Given the description of an element on the screen output the (x, y) to click on. 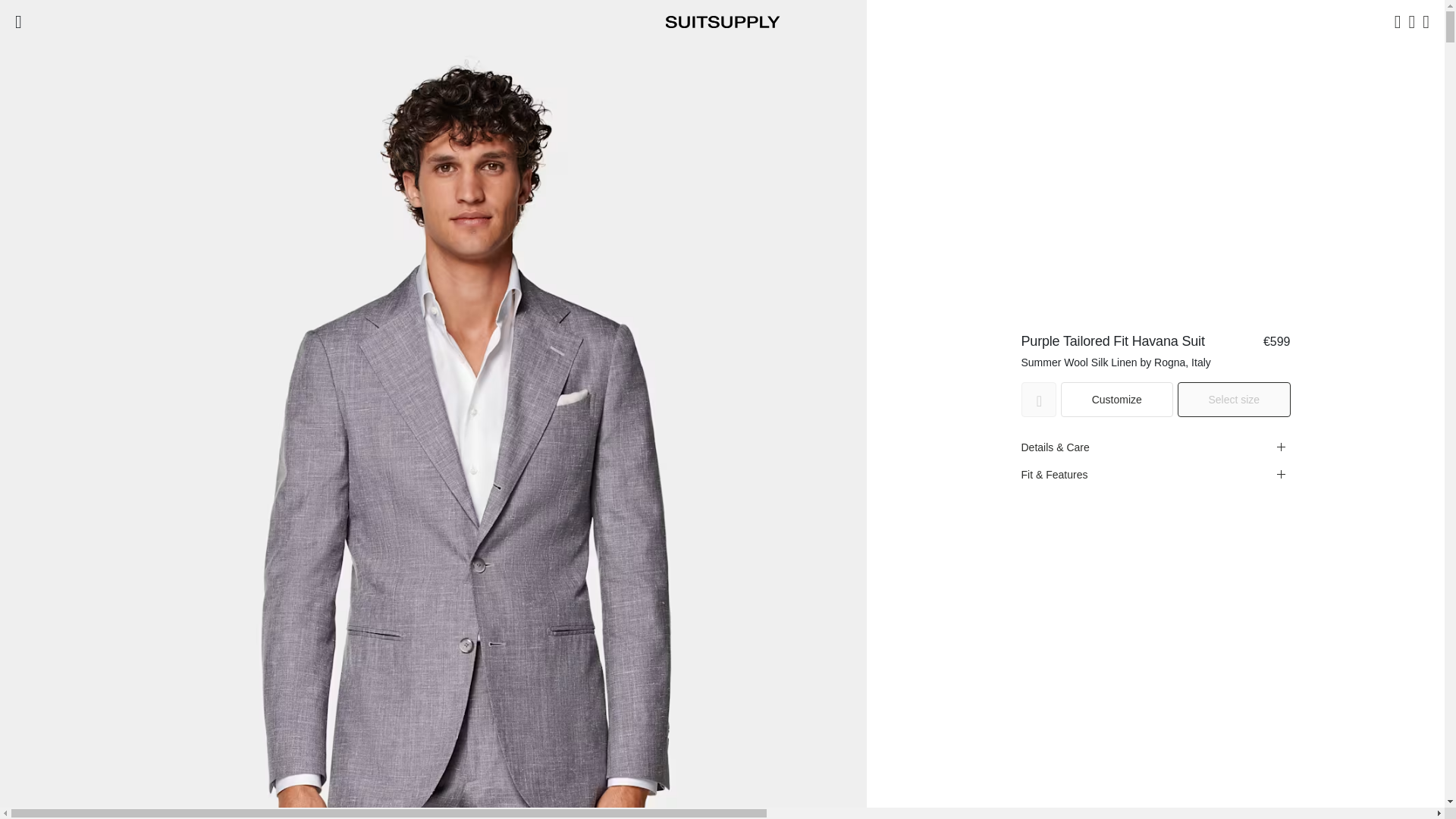
Suitsupply Home (721, 21)
